Given the description of an element on the screen output the (x, y) to click on. 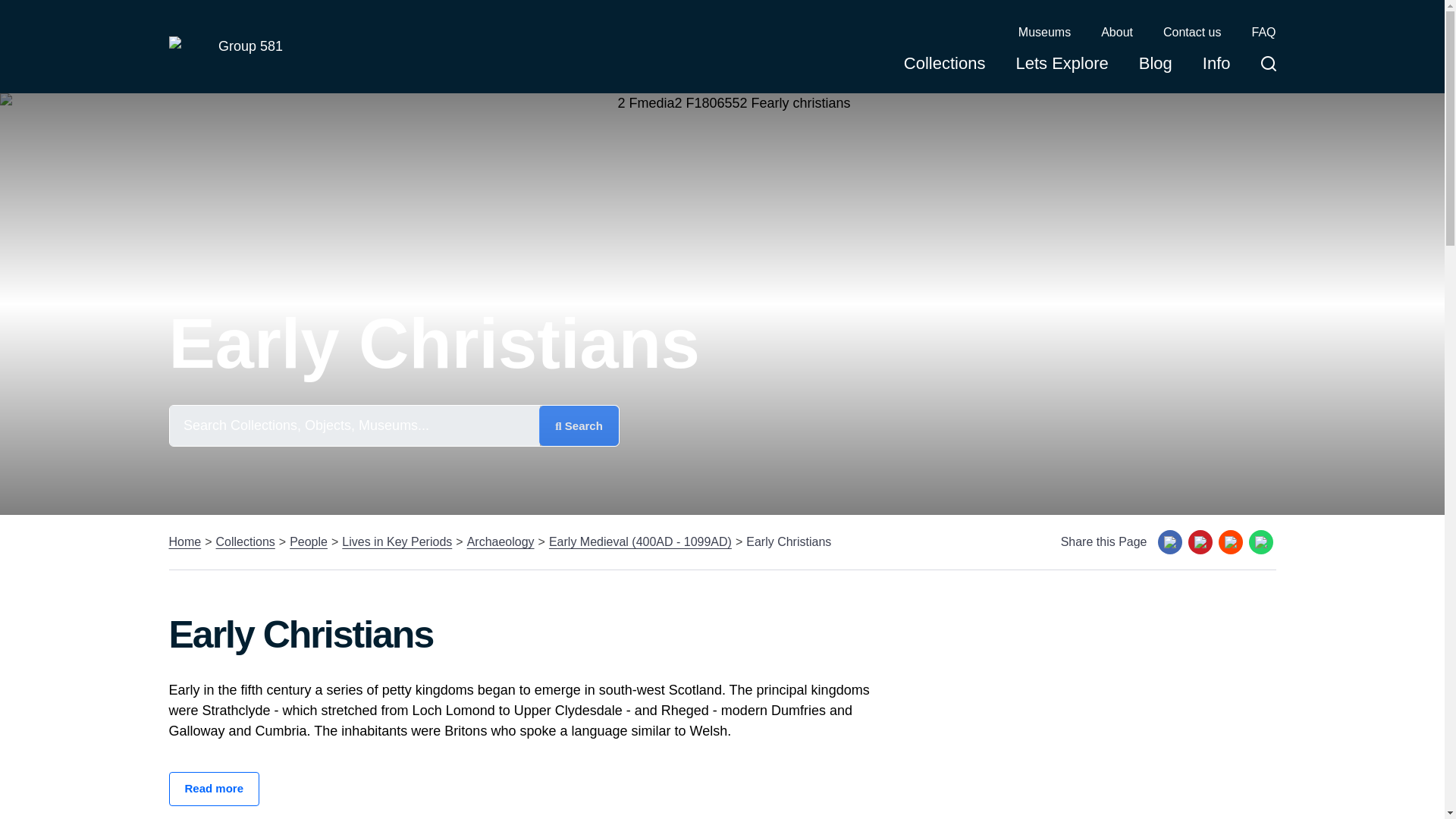
Museums (1043, 32)
Read more (213, 788)
Collections (245, 541)
Contact us (1192, 32)
Lets Explore (1061, 68)
Archaeology (500, 541)
Home (184, 541)
Search (578, 425)
FAQ (1262, 32)
About (1116, 32)
Collections (944, 68)
People (308, 541)
Lives in Key Periods (396, 541)
